Given the description of an element on the screen output the (x, y) to click on. 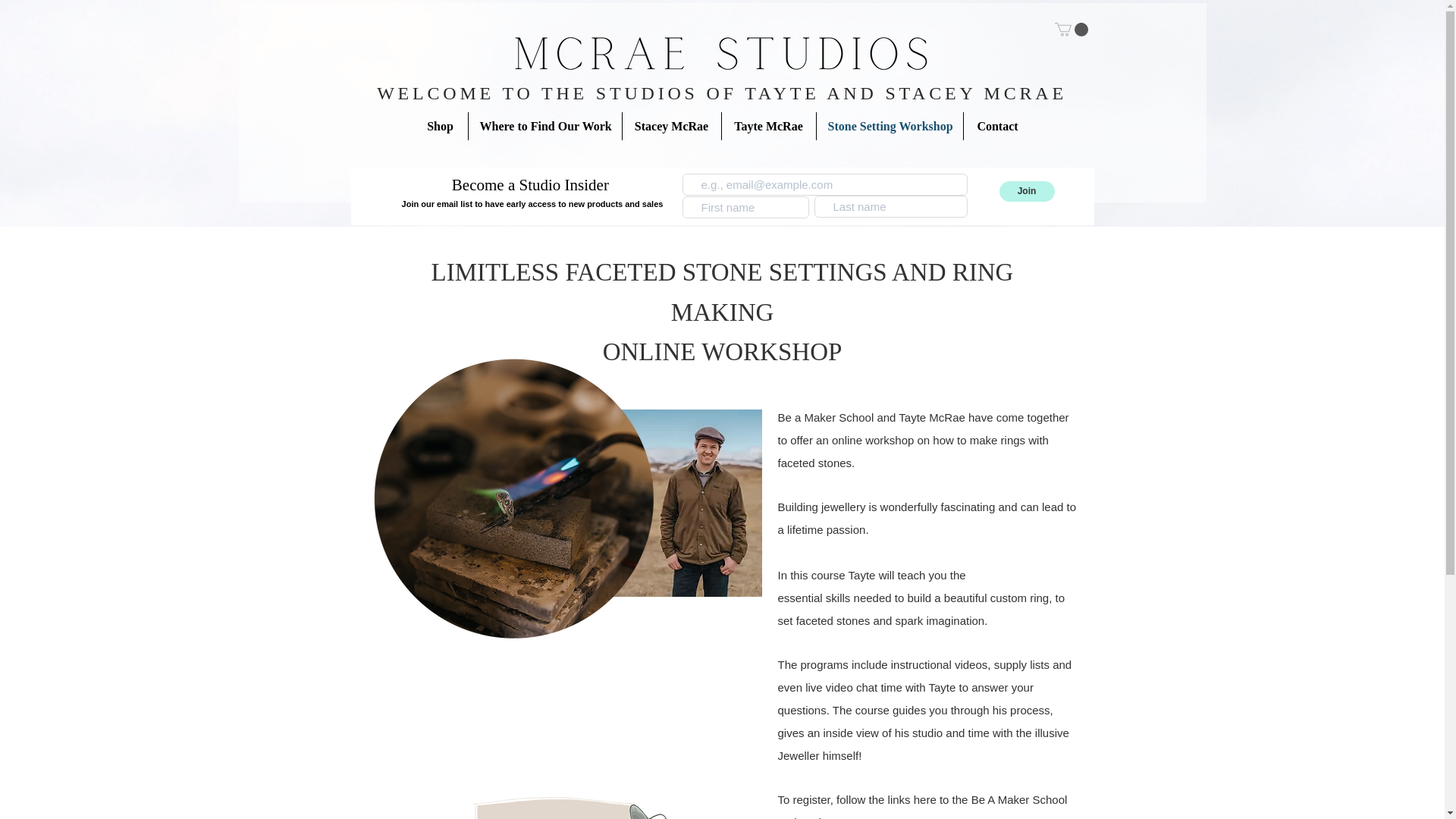
Shop (439, 126)
Tayte McRae (768, 126)
Contact (996, 126)
Stacey McRae (670, 126)
Join (1026, 190)
Stone Setting Workshop (888, 126)
Where to Find Our Work (544, 126)
